Given the description of an element on the screen output the (x, y) to click on. 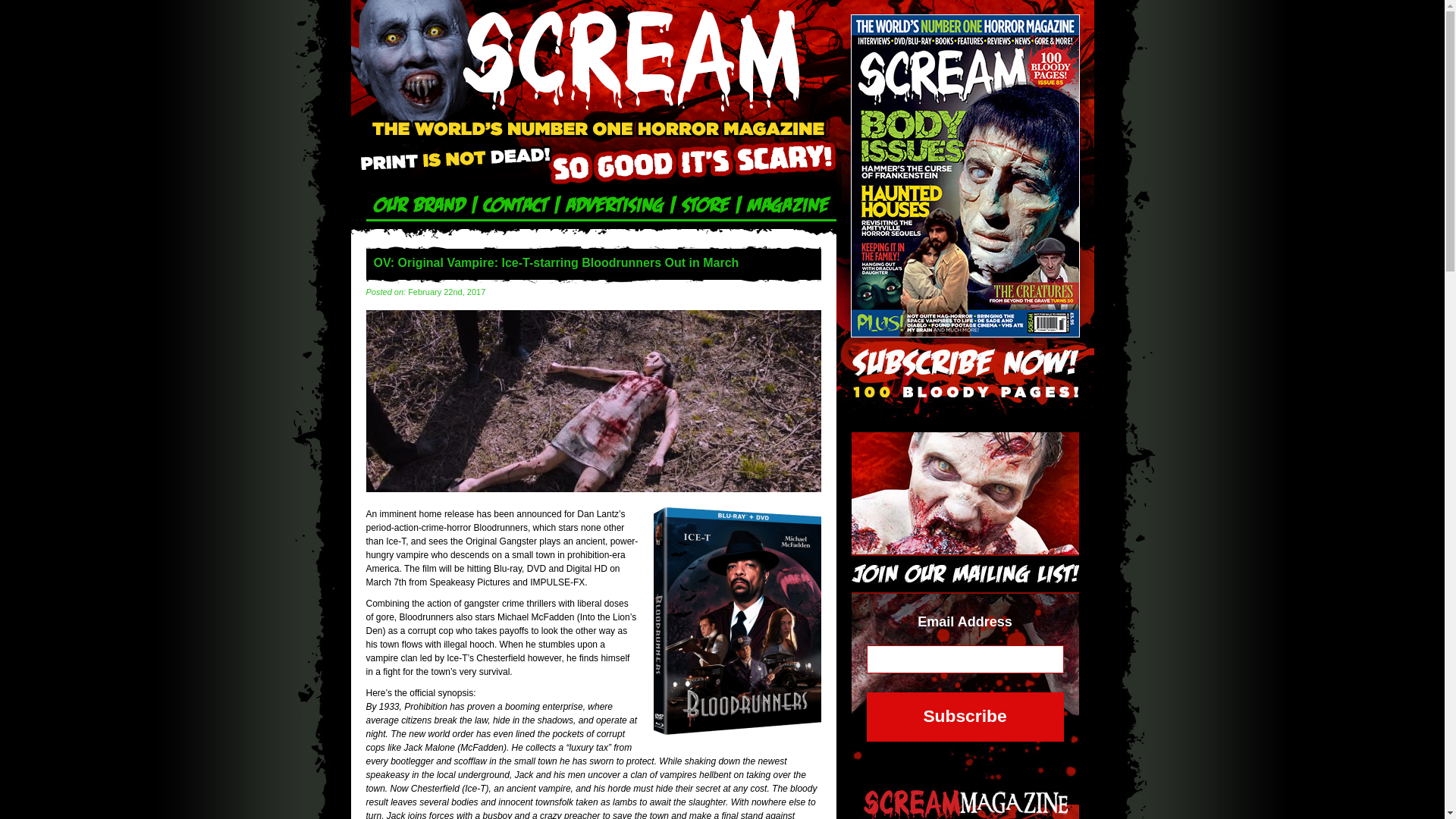
Subscribe (964, 717)
Subscribe (964, 717)
